Given the description of an element on the screen output the (x, y) to click on. 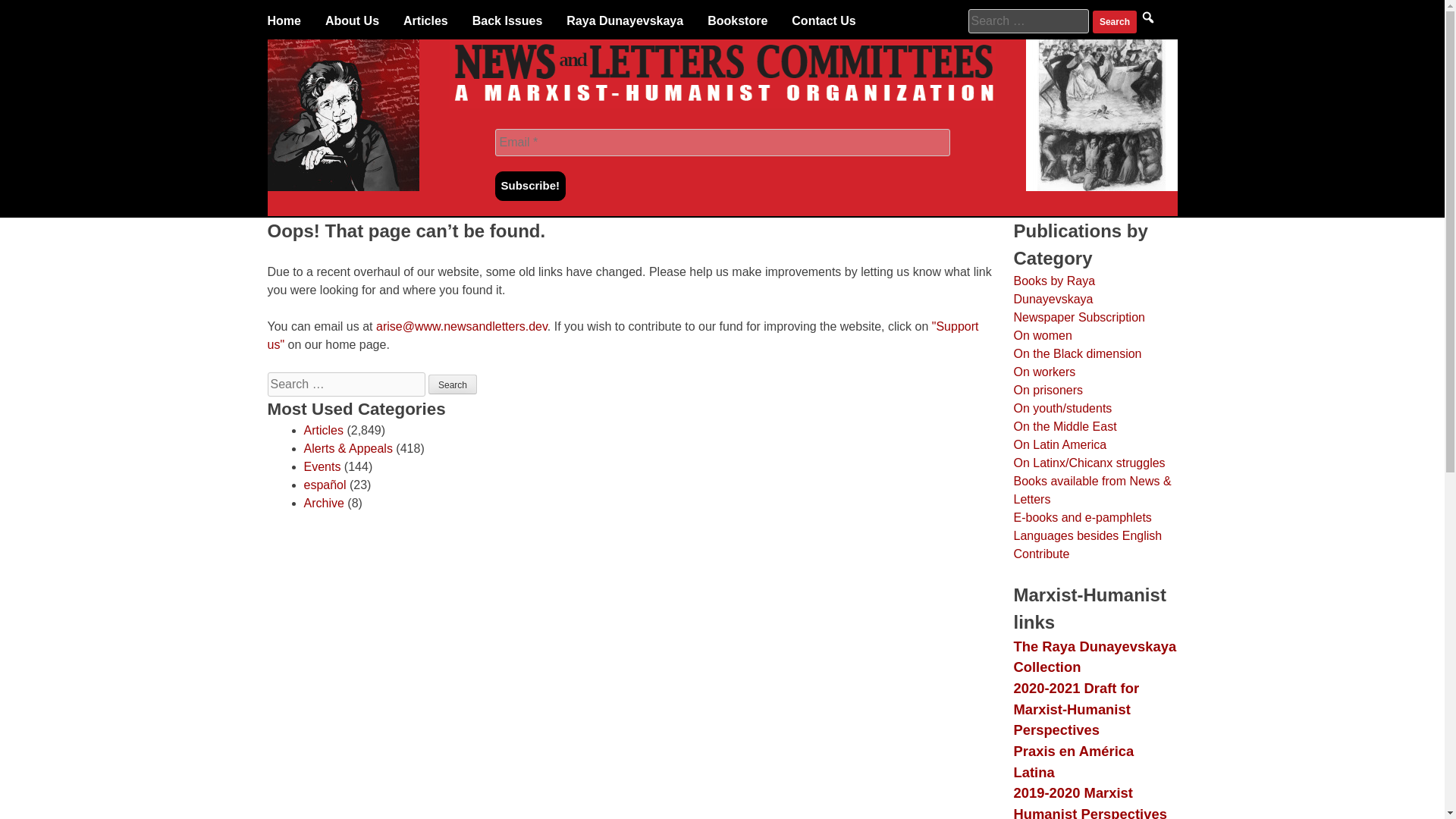
Raya Dunayevskaya (624, 21)
Search (452, 383)
Contribute (1040, 553)
Back Issues (507, 21)
Home (282, 21)
Bookstore (737, 21)
"Support us" (622, 335)
Contact Us (824, 21)
2019-2020 Marxist Humanist Perspectives (1089, 801)
The Raya Dunayevskaya Collection (1094, 656)
Articles (322, 430)
Archive (322, 502)
About Us (351, 21)
Newspaper Subscription (1078, 317)
